Given the description of an element on the screen output the (x, y) to click on. 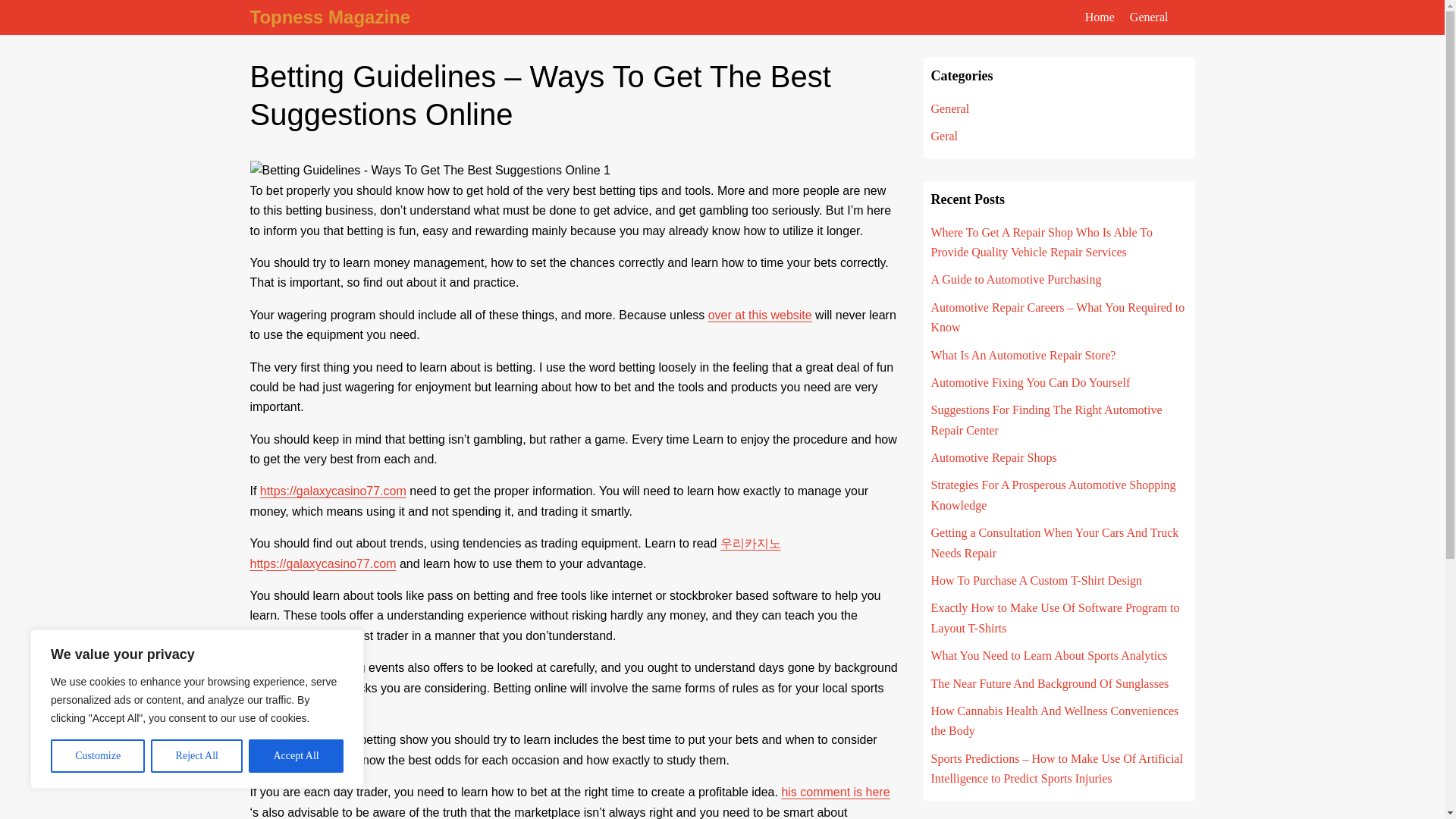
General (950, 108)
What You Need to Learn About Sports Analytics (1049, 655)
Reject All (197, 756)
How To Purchase A Custom T-Shirt Design (1036, 580)
Geral (944, 135)
Automotive Repair Shops (994, 457)
What Is An Automotive Repair Store? (1023, 354)
Accept All (295, 756)
over at this website (759, 314)
Suggestions For Finding The Right Automotive Repair Center (1046, 419)
his comment is here (834, 791)
Getting a Consultation When Your Cars And Truck Needs Repair (1055, 542)
Automotive Fixing You Can Do Yourself (1031, 382)
Strategies For A Prosperous Automotive Shopping Knowledge (1053, 494)
